Given the description of an element on the screen output the (x, y) to click on. 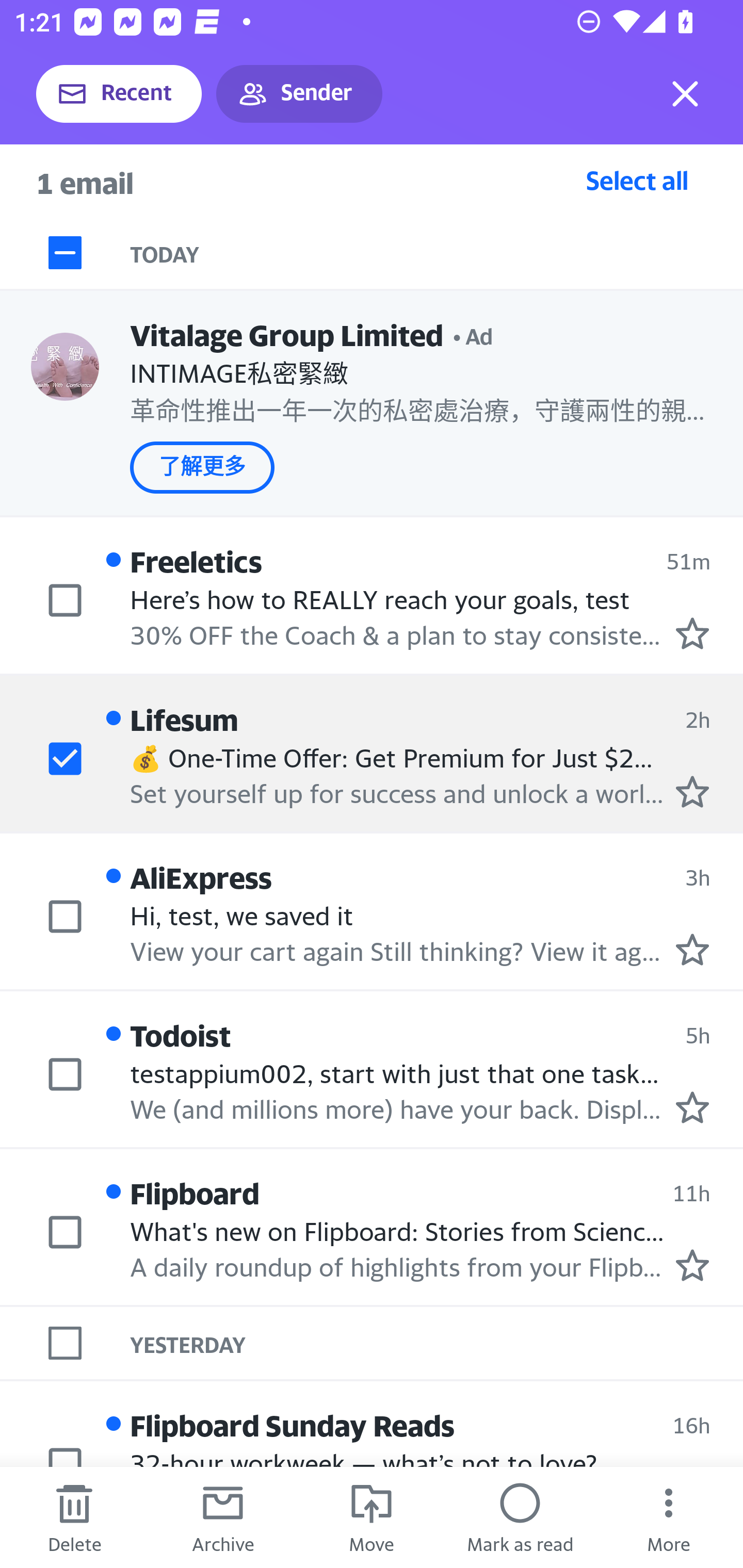
Sender (299, 93)
Exit selection mode (684, 93)
Select all (637, 180)
TODAY (436, 252)
Mark as starred. (692, 632)
Mark as starred. (692, 791)
Mark as starred. (692, 949)
Mark as starred. (692, 1107)
Mark as starred. (692, 1264)
YESTERDAY (436, 1342)
Delete (74, 1517)
Archive (222, 1517)
Move (371, 1517)
Mark as read (519, 1517)
More (668, 1517)
